Given the description of an element on the screen output the (x, y) to click on. 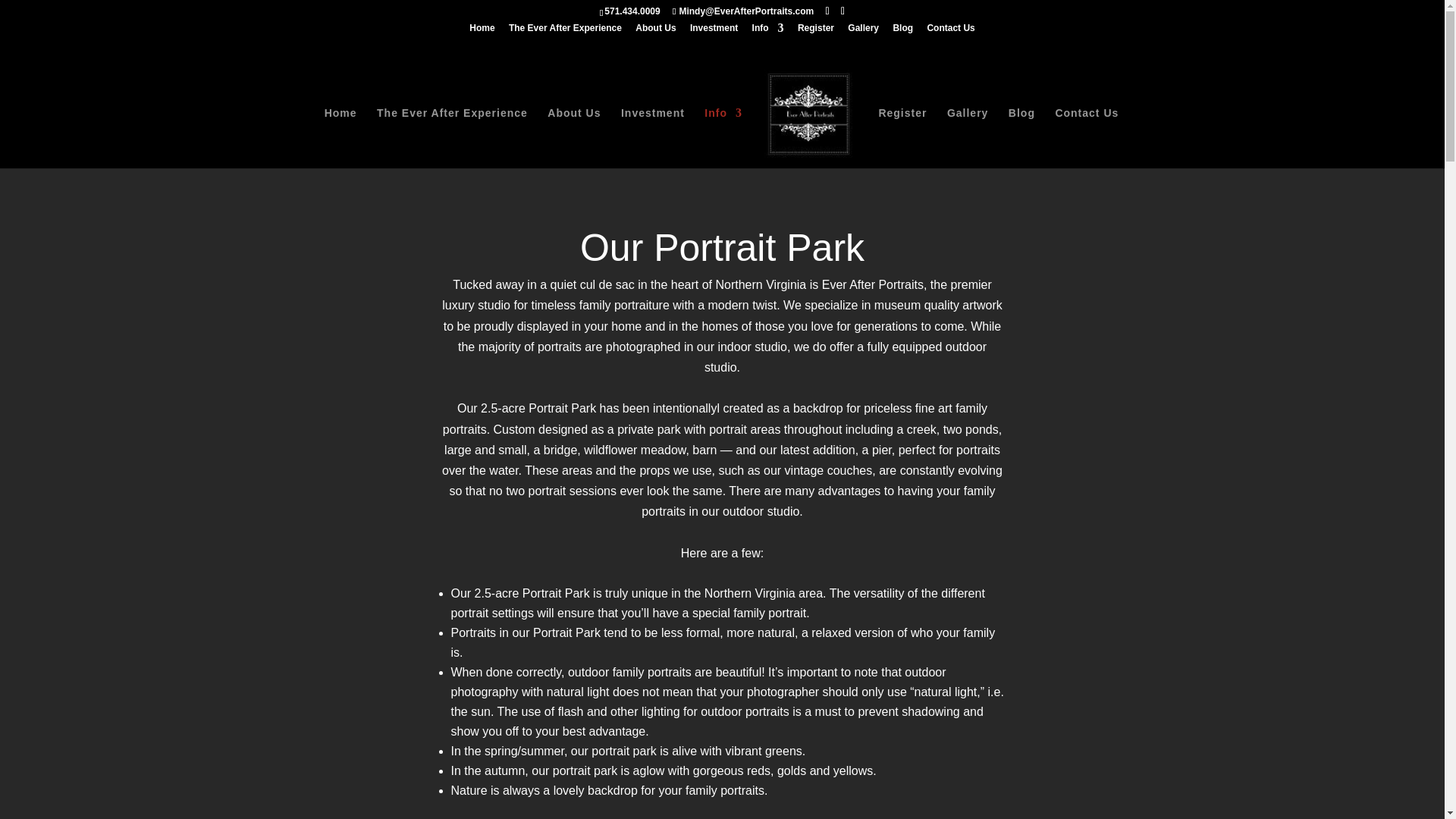
Home (481, 31)
Register (901, 137)
The Ever After Experience (452, 137)
Investment (714, 31)
Gallery (863, 31)
The Ever After Experience (564, 31)
About Us (573, 137)
Contact Us (950, 31)
Blog (902, 31)
Investment (652, 137)
Info (723, 137)
Gallery (967, 137)
Info (768, 31)
Contact Us (1086, 137)
About Us (654, 31)
